Given the description of an element on the screen output the (x, y) to click on. 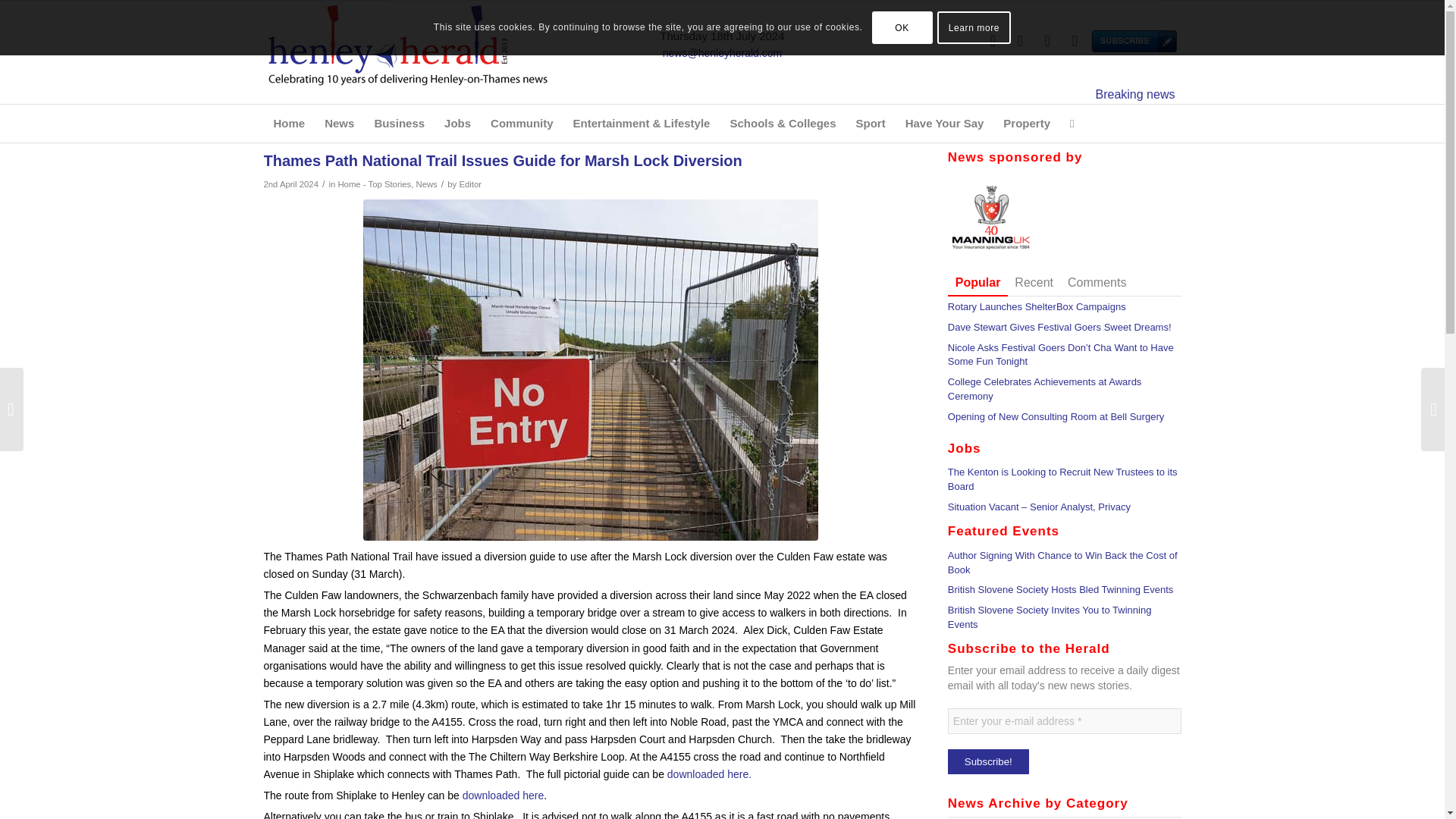
Henley Herald logo (407, 44)
Facebook (1019, 40)
Posts by Editor (469, 184)
Business (398, 123)
Subscribe (1101, 40)
Instagram (1046, 40)
Home (289, 123)
News (339, 123)
Community (521, 123)
Subscribe! (988, 761)
Jobs (456, 123)
Henley Herald logo (407, 52)
Youtube (1074, 40)
